Given the description of an element on the screen output the (x, y) to click on. 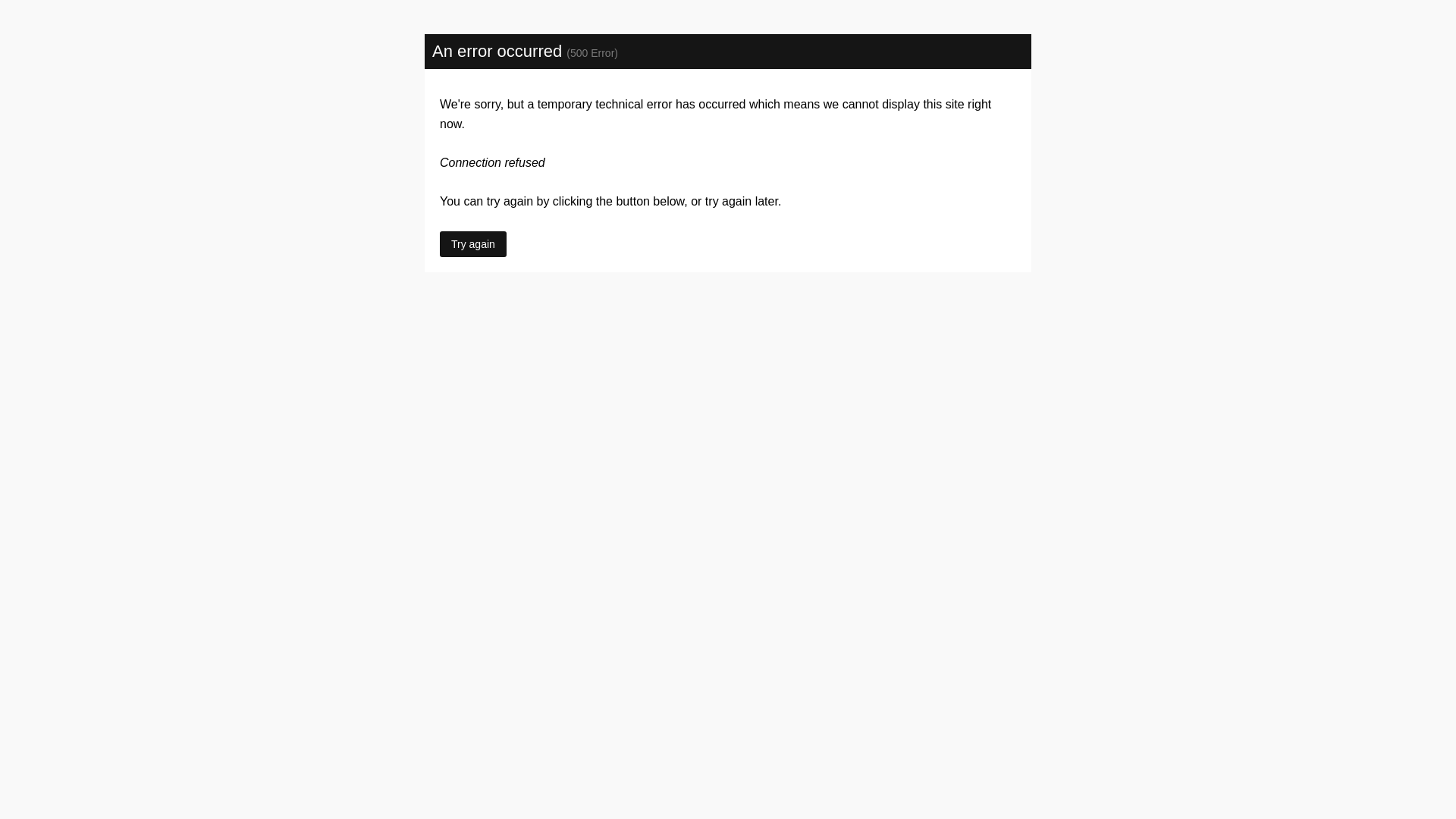
Try again Element type: text (472, 244)
